Given the description of an element on the screen output the (x, y) to click on. 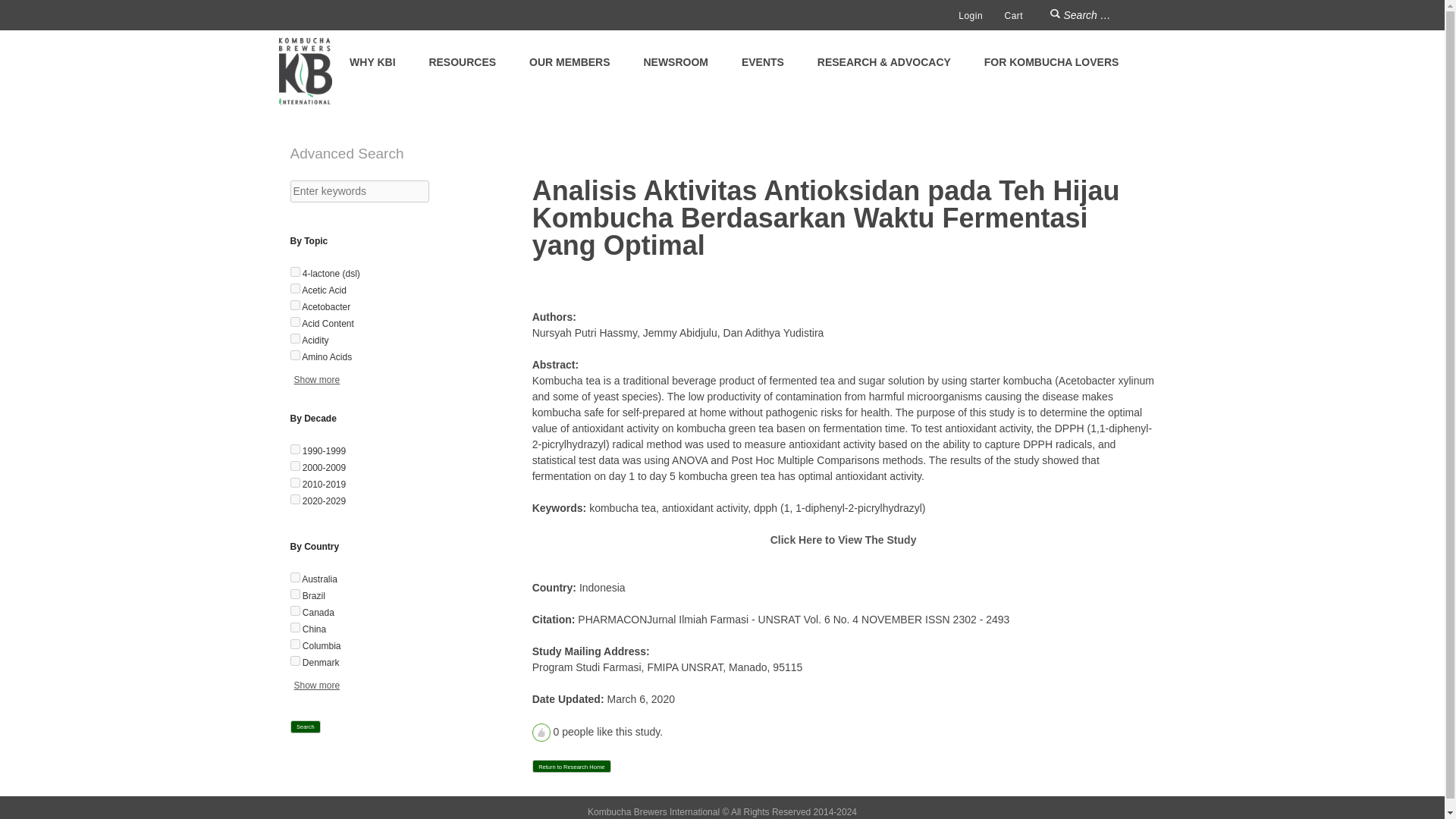
Australia (294, 577)
2000 (294, 465)
Canada (294, 610)
EVENTS (762, 62)
RESOURCES (462, 62)
1990 (294, 449)
FOR KOMBUCHA LOVERS (1051, 62)
Brazil (294, 593)
2010 (294, 482)
2020 (294, 499)
Acetobacter (294, 305)
Search (1055, 14)
Login (970, 15)
Click here to like this study (541, 732)
OUR MEMBERS (569, 62)
